Given the description of an element on the screen output the (x, y) to click on. 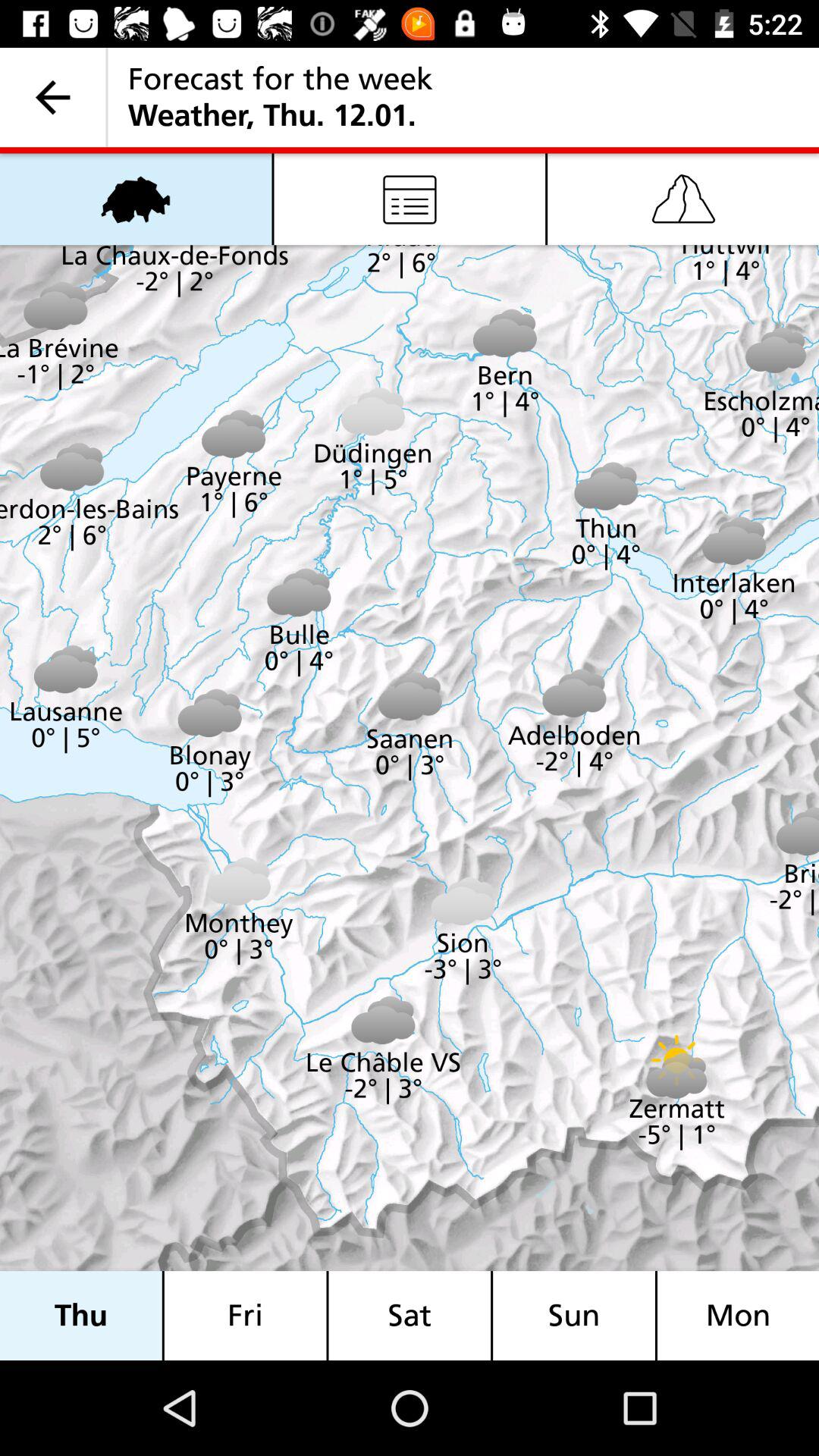
jump until the sun item (574, 1315)
